Given the description of an element on the screen output the (x, y) to click on. 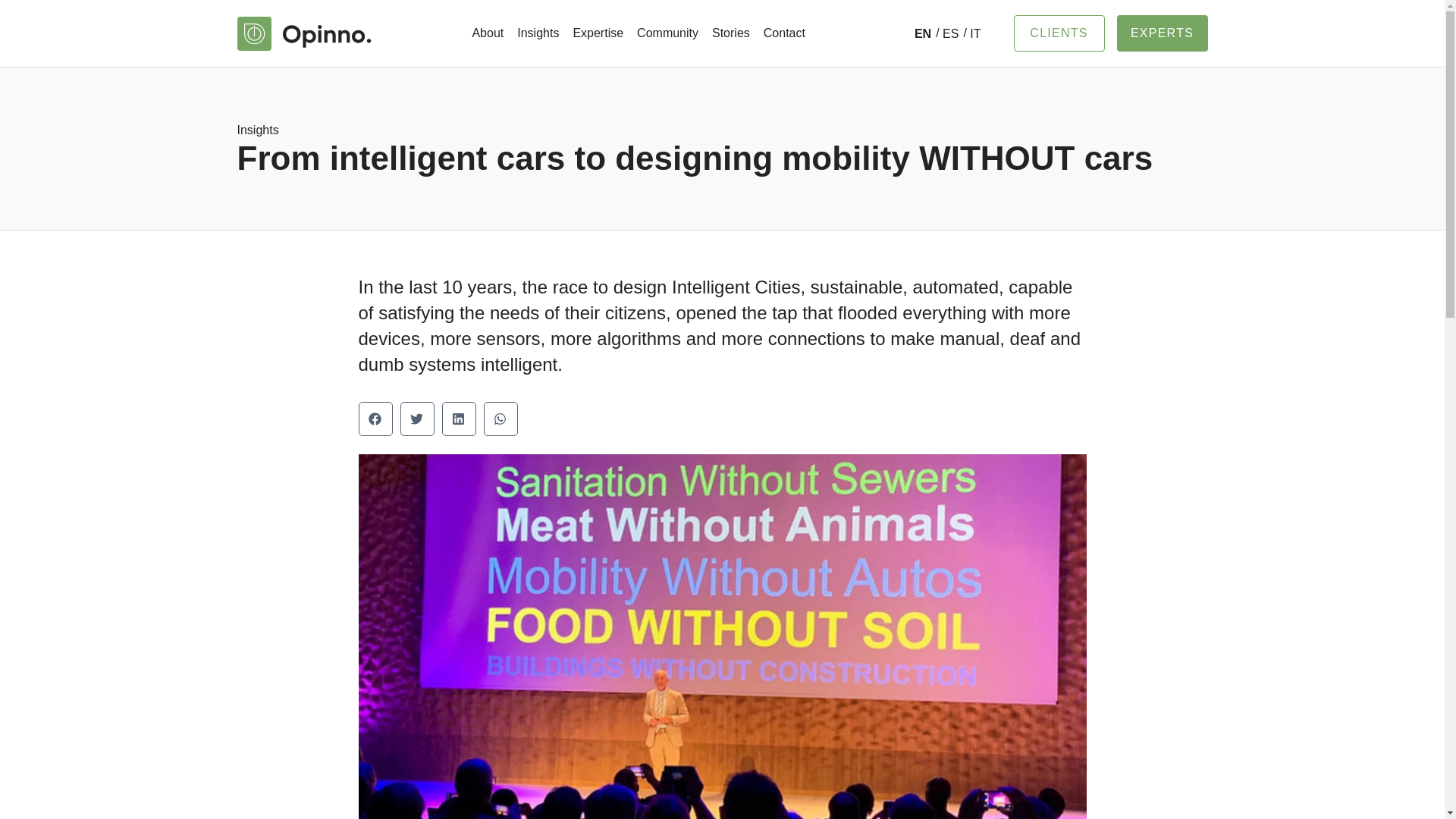
About (487, 32)
IT (971, 33)
ES (946, 33)
Insights (538, 32)
CLIENTS (1058, 33)
Contact (784, 32)
EN (922, 33)
Stories (730, 32)
Community (667, 32)
Expertise (598, 32)
